Given the description of an element on the screen output the (x, y) to click on. 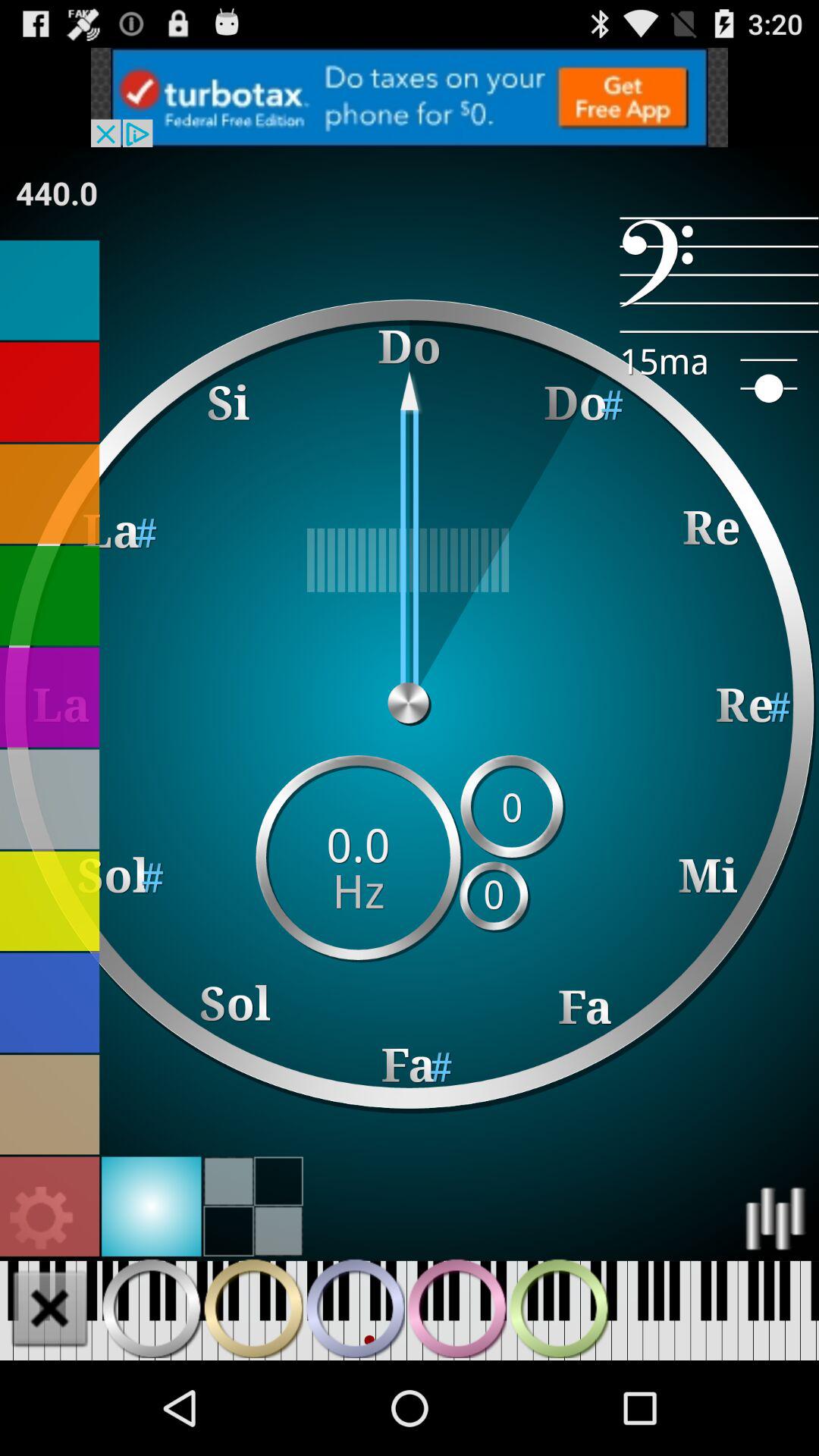
settings wheel (49, 1206)
